Given the description of an element on the screen output the (x, y) to click on. 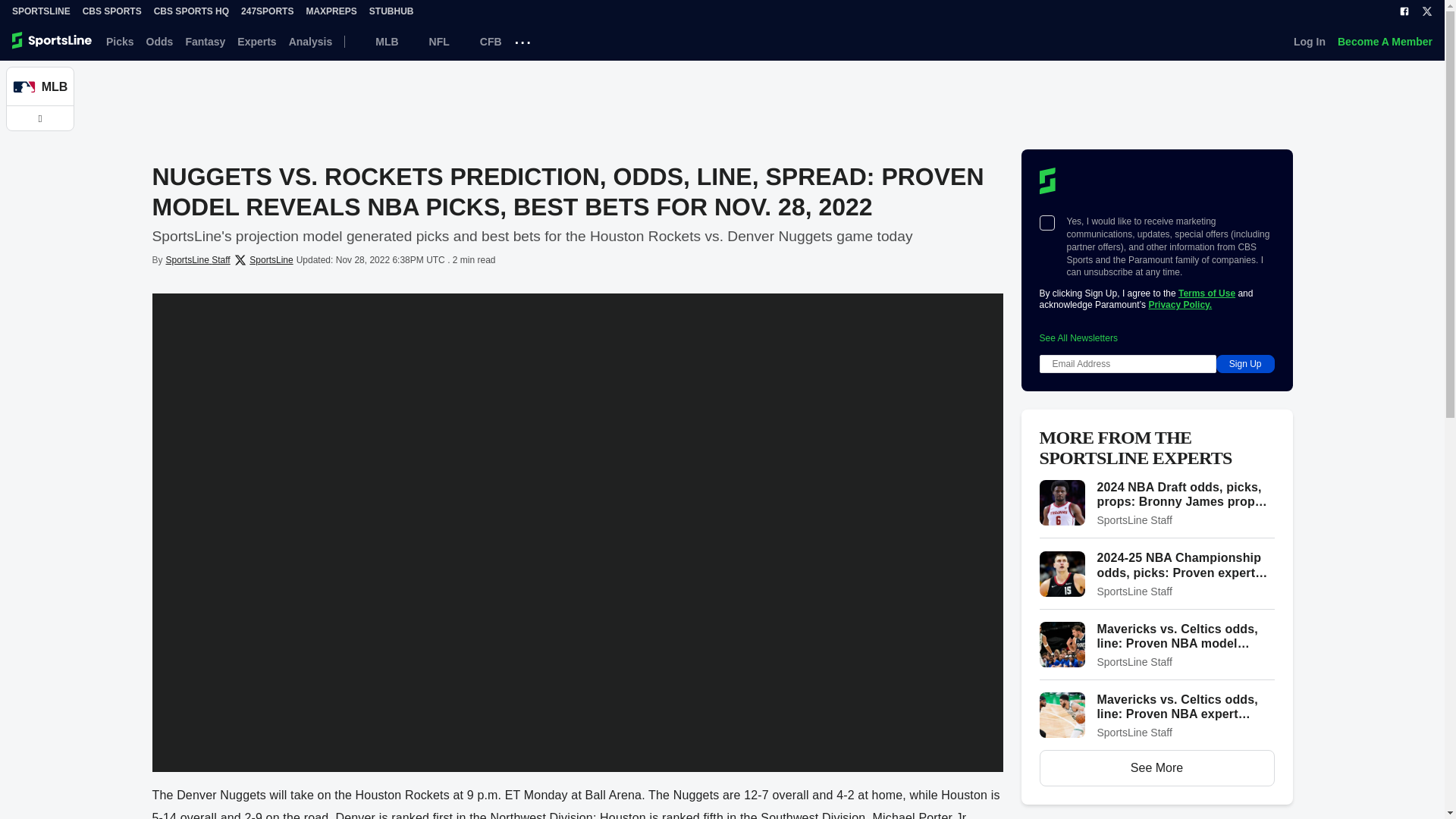
CBS SPORTS HQ (191, 11)
MaxPreps (330, 11)
SPORTSLINE (40, 11)
CBS Sports HQ (191, 11)
CFB (481, 41)
CBS SPORTS (111, 11)
NFL (429, 41)
247Sports (267, 11)
CBS Sports (111, 11)
MAXPREPS (330, 11)
